Given the description of an element on the screen output the (x, y) to click on. 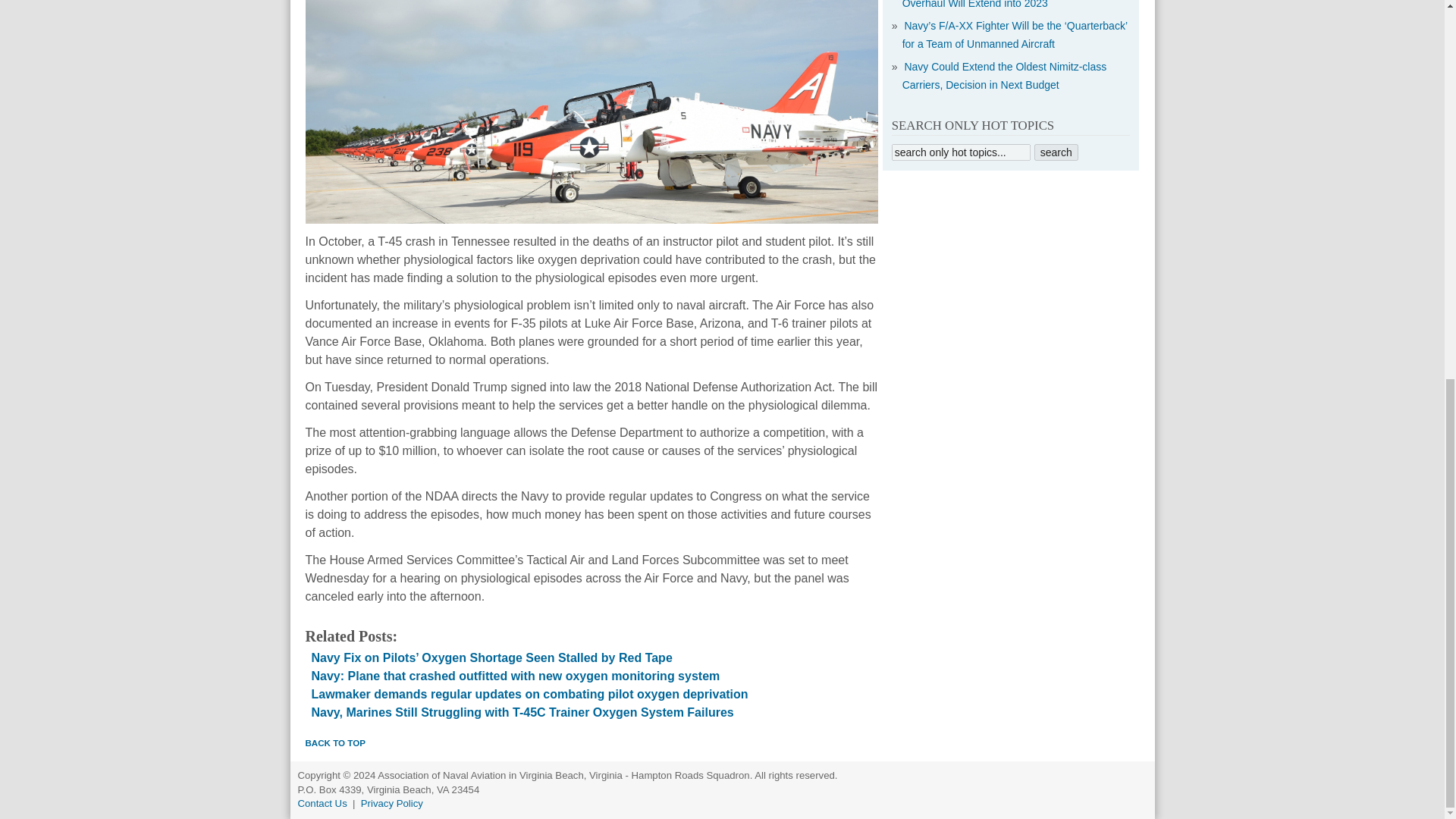
search only hot topics... (960, 152)
search (1055, 152)
search (1055, 152)
search only hot topics... (960, 152)
